Given the description of an element on the screen output the (x, y) to click on. 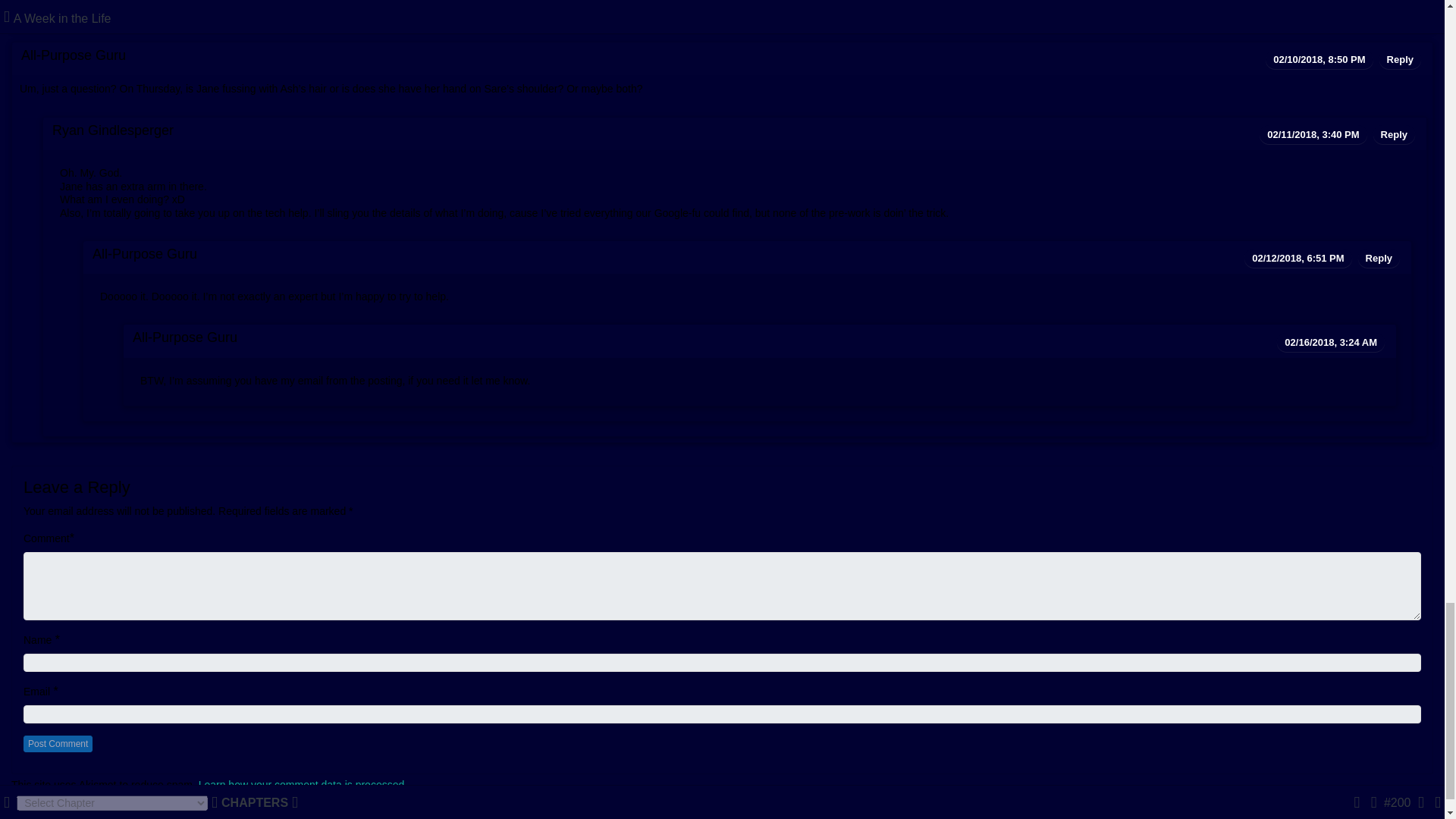
Post Comment (58, 743)
